Given the description of an element on the screen output the (x, y) to click on. 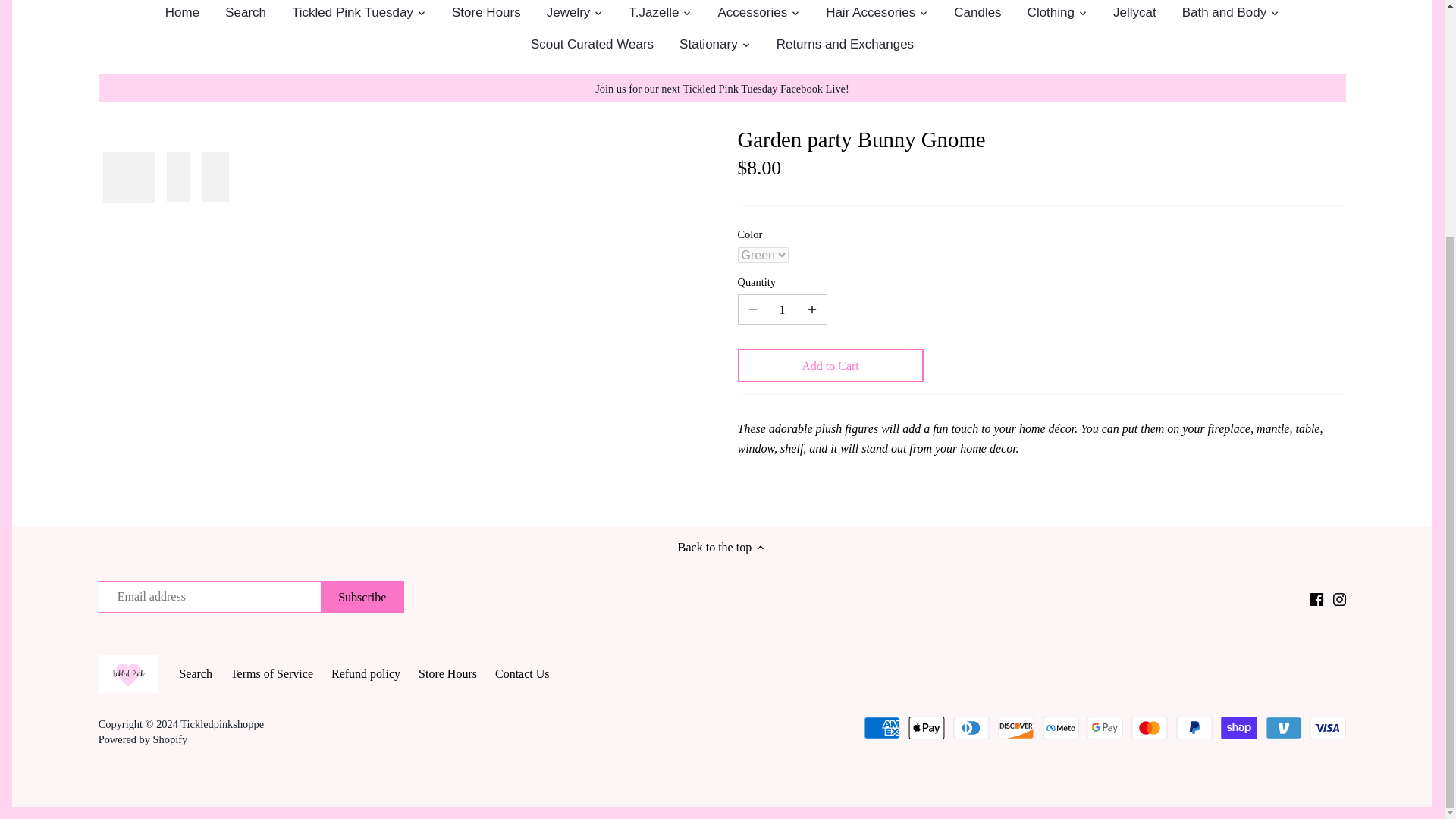
Accessories (751, 15)
Facebook (1316, 599)
1 (782, 308)
Store Hours (486, 15)
T.Jazelle (653, 15)
Search (245, 15)
Tickled Pink Tuesday (352, 15)
Hair Accesories (870, 15)
American Express (881, 727)
Apple Pay (926, 727)
